Given the description of an element on the screen output the (x, y) to click on. 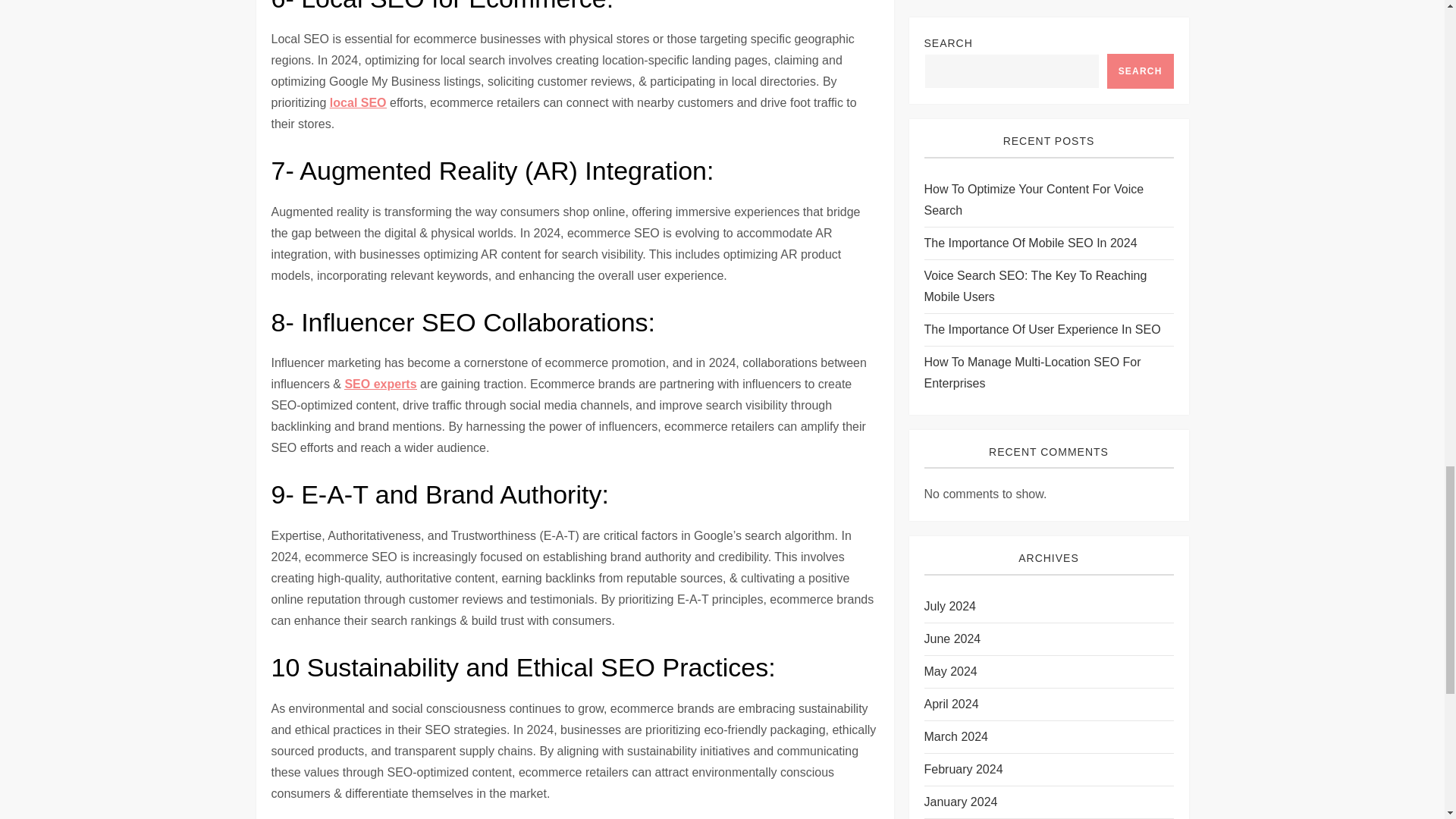
local SEO (358, 102)
SEO experts (379, 383)
